Given the description of an element on the screen output the (x, y) to click on. 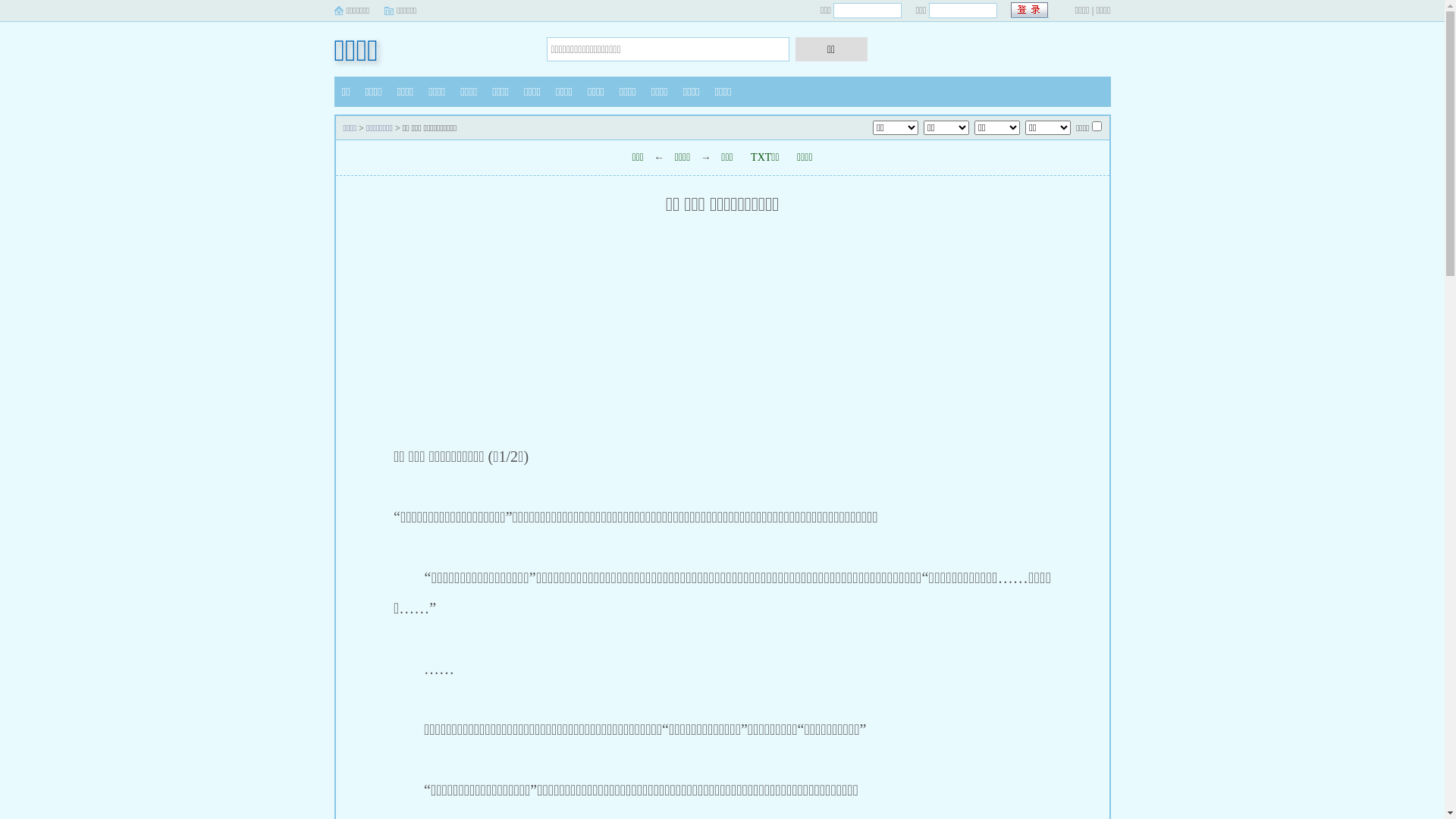
  Element type: text (1029, 10)
